Given the description of an element on the screen output the (x, y) to click on. 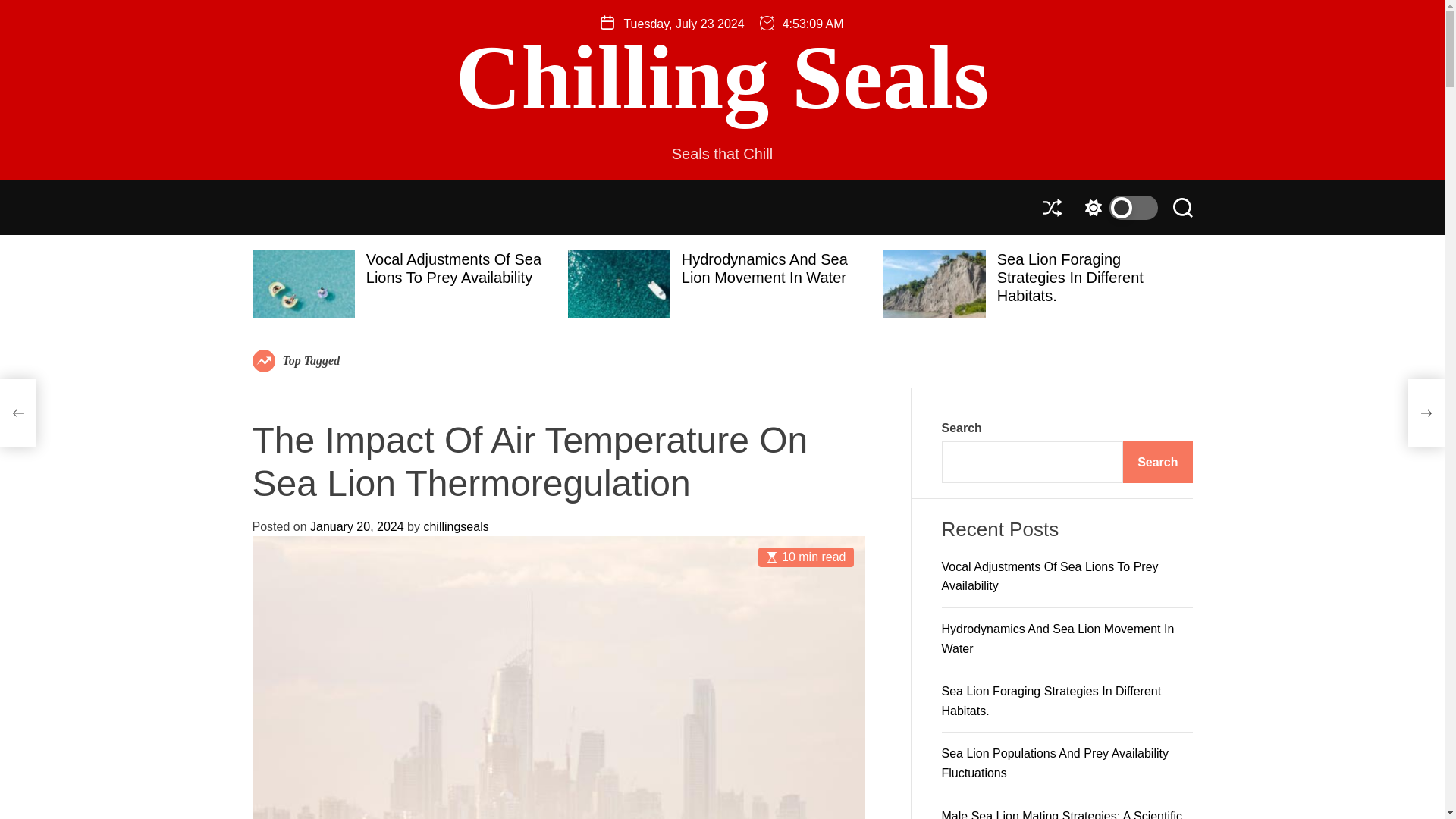
January 20, 2024 (357, 526)
Switch color mode (1117, 207)
Sea Lion Foraging Strategies In Different Habitats. (1069, 276)
Shuffle (1051, 207)
chillingseals (455, 526)
Search (1182, 207)
Hydrodynamics And Sea Lion Movement In Water (764, 267)
Vocal Adjustments Of Sea Lions To Prey Availability (453, 267)
Chilling Seals (722, 77)
